Given the description of an element on the screen output the (x, y) to click on. 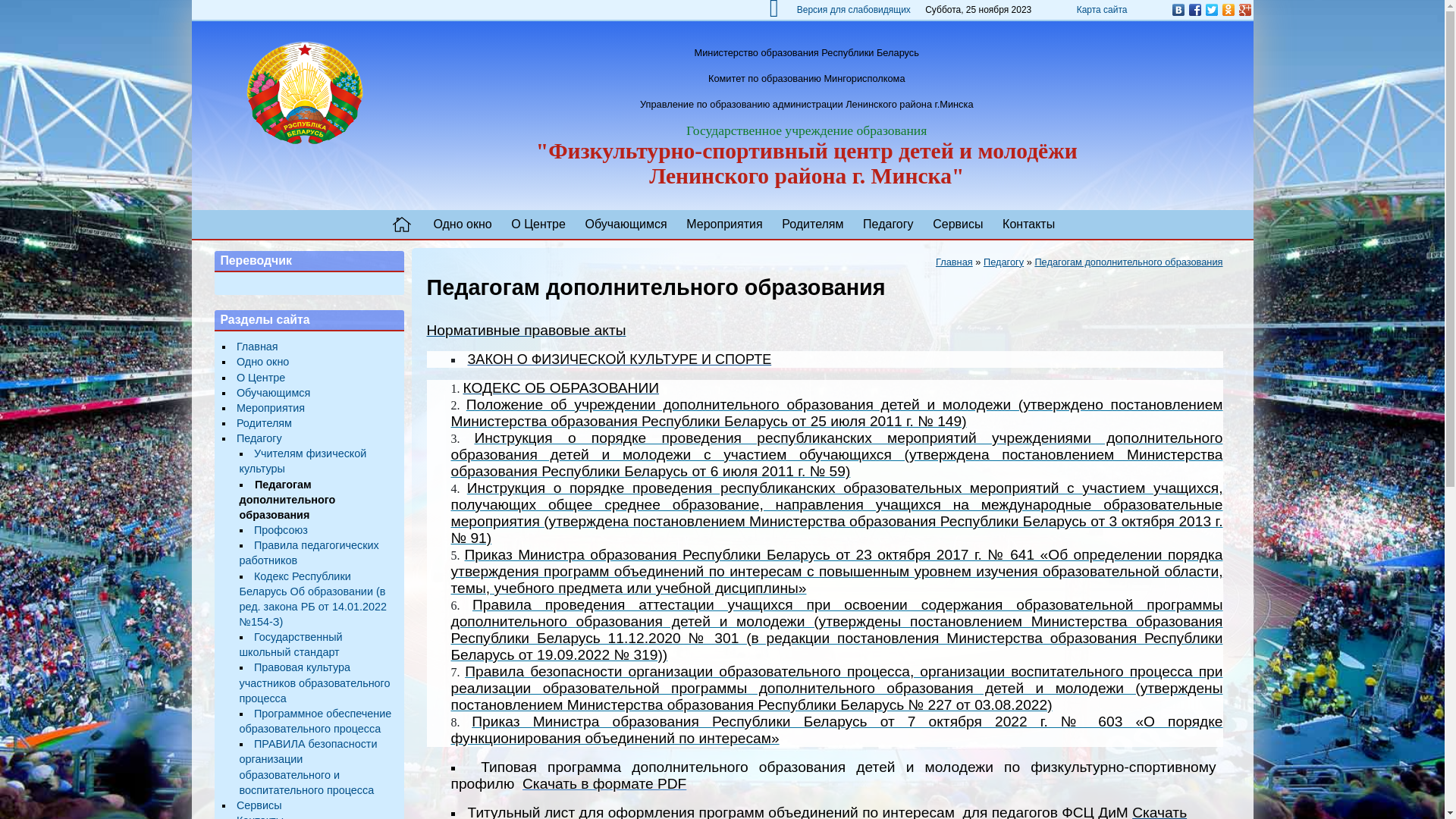
Facebook Element type: hover (1194, 9)
Google Plus Element type: hover (1244, 9)
Twitter Element type: hover (1210, 9)
